Given the description of an element on the screen output the (x, y) to click on. 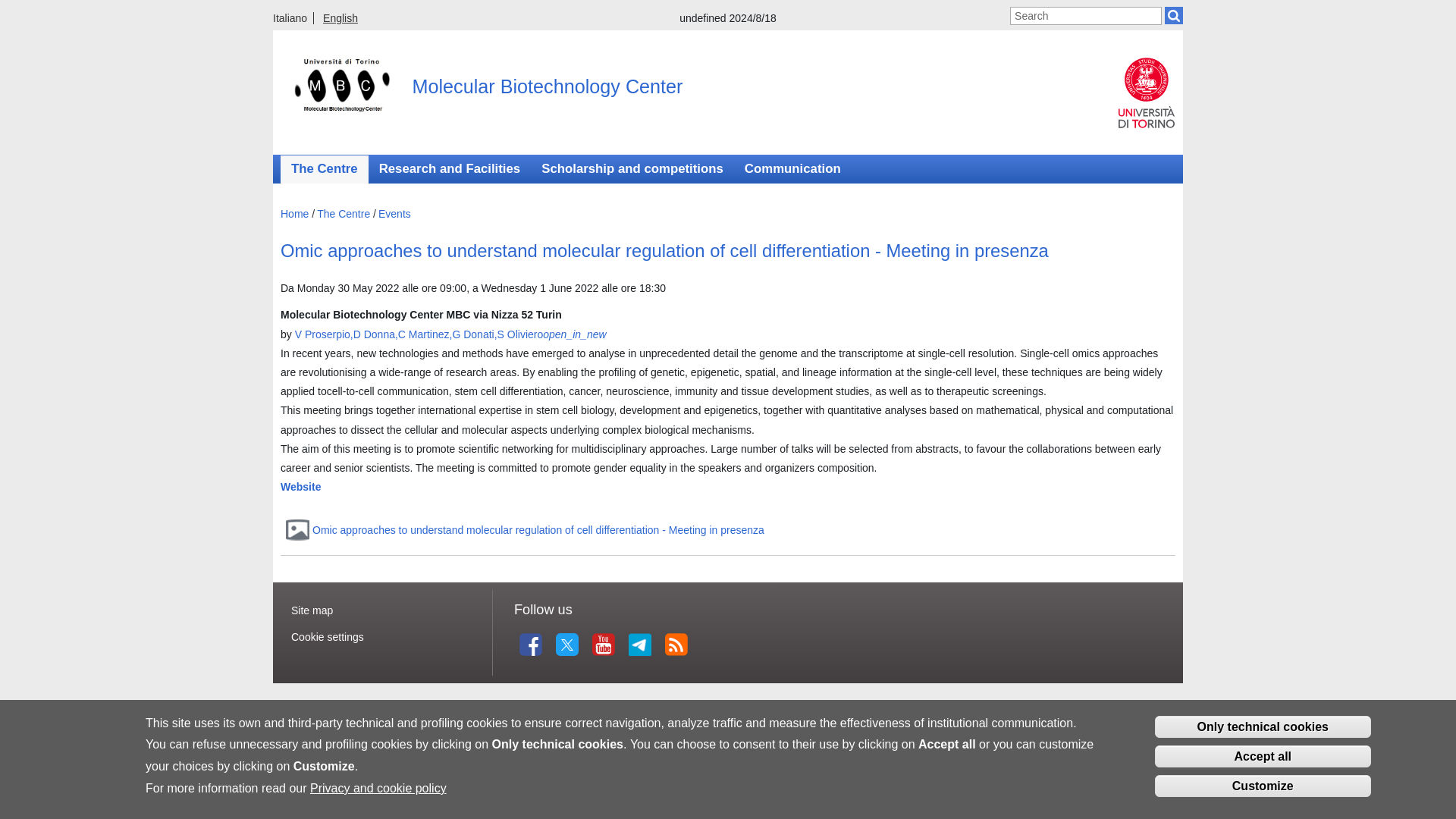
Telegram (639, 644)
Search (1173, 15)
The Centre (324, 169)
Search (1173, 15)
Enter the terms you wish to search for. (1085, 15)
The Centre (346, 214)
Research and Facilities (449, 169)
Skip to main content (696, 1)
Feed RSS EN (676, 644)
